Given the description of an element on the screen output the (x, y) to click on. 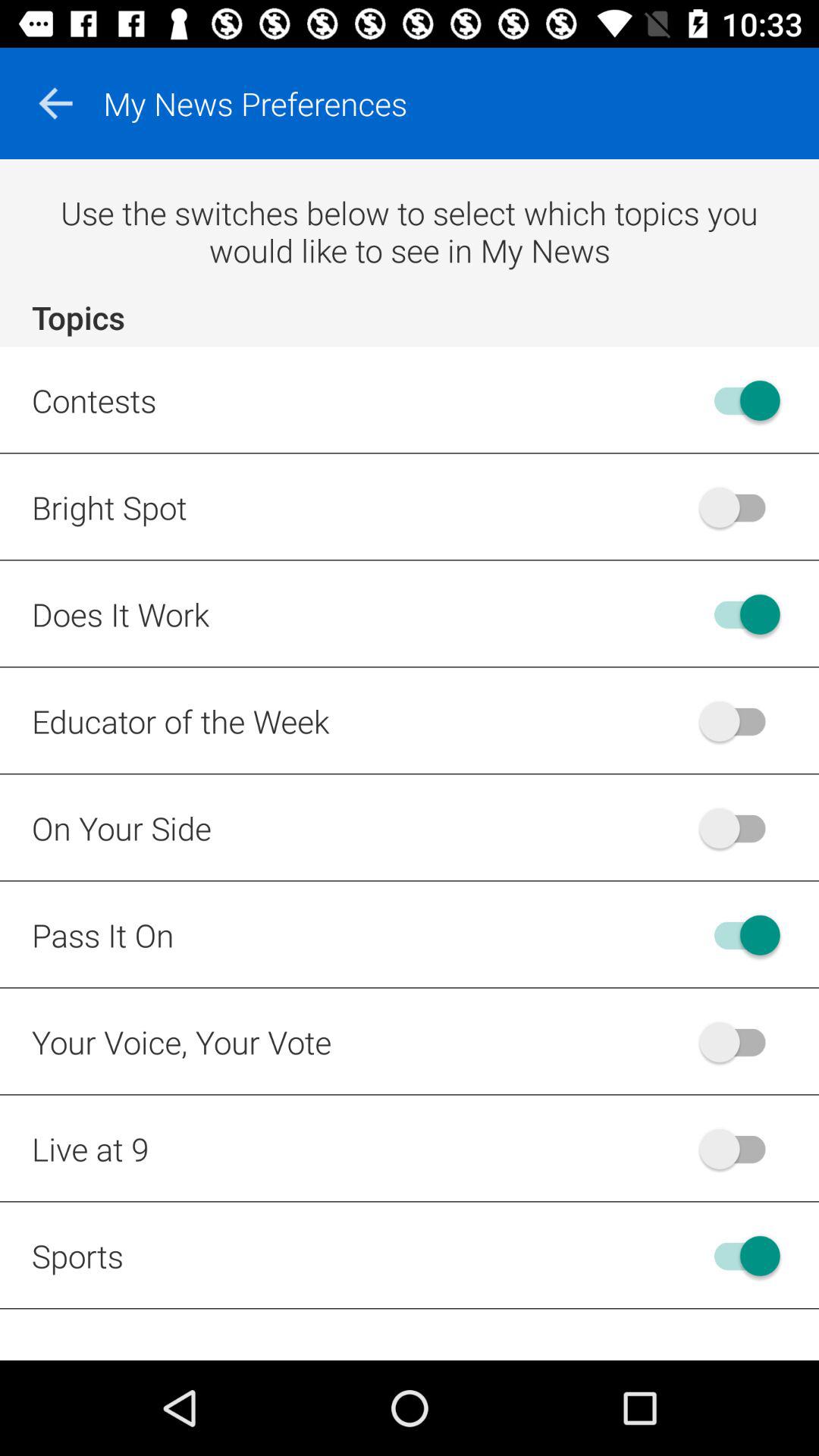
go to off (739, 506)
